Given the description of an element on the screen output the (x, y) to click on. 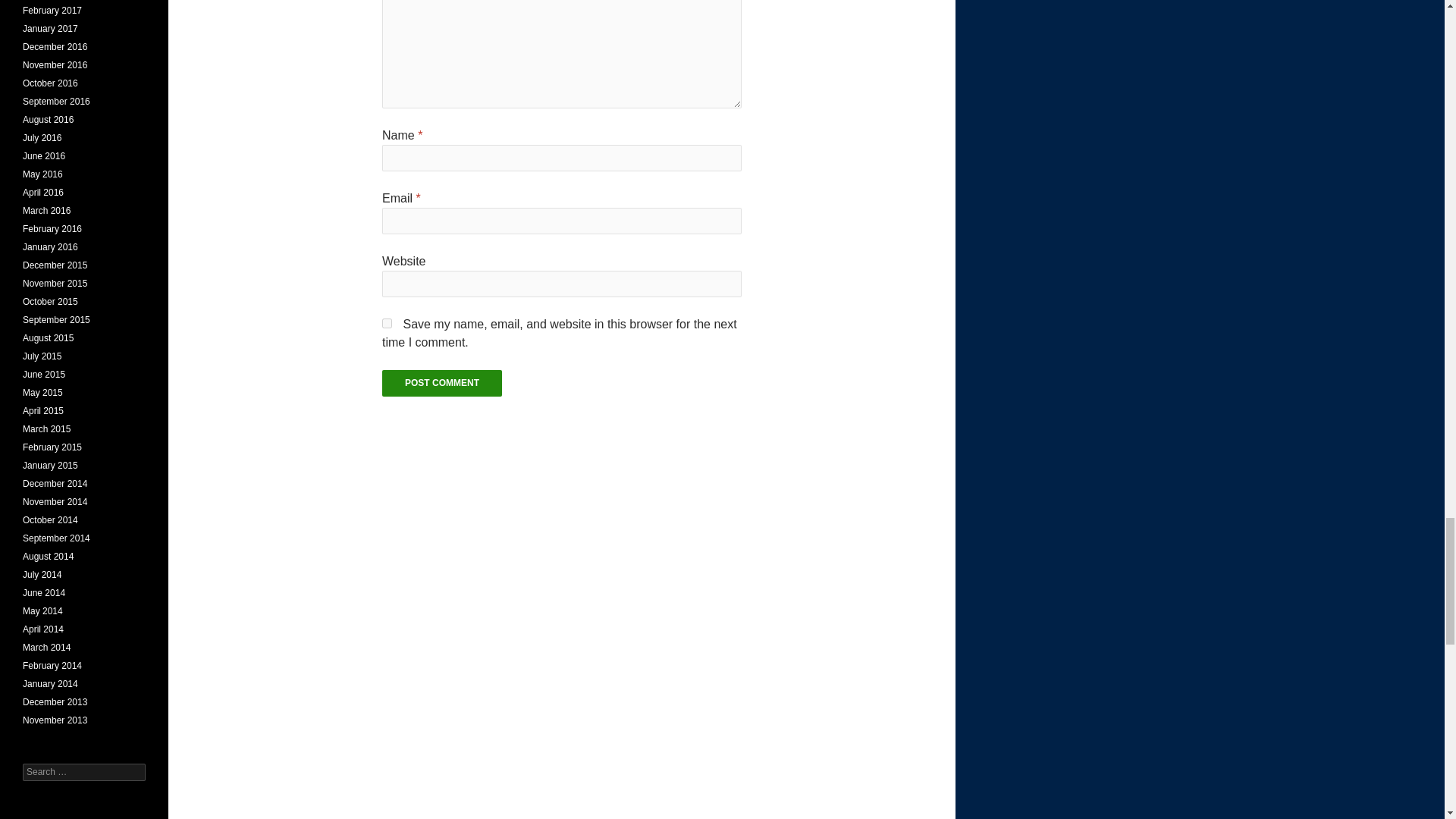
Post Comment (441, 383)
Post Comment (441, 383)
yes (386, 323)
